Given the description of an element on the screen output the (x, y) to click on. 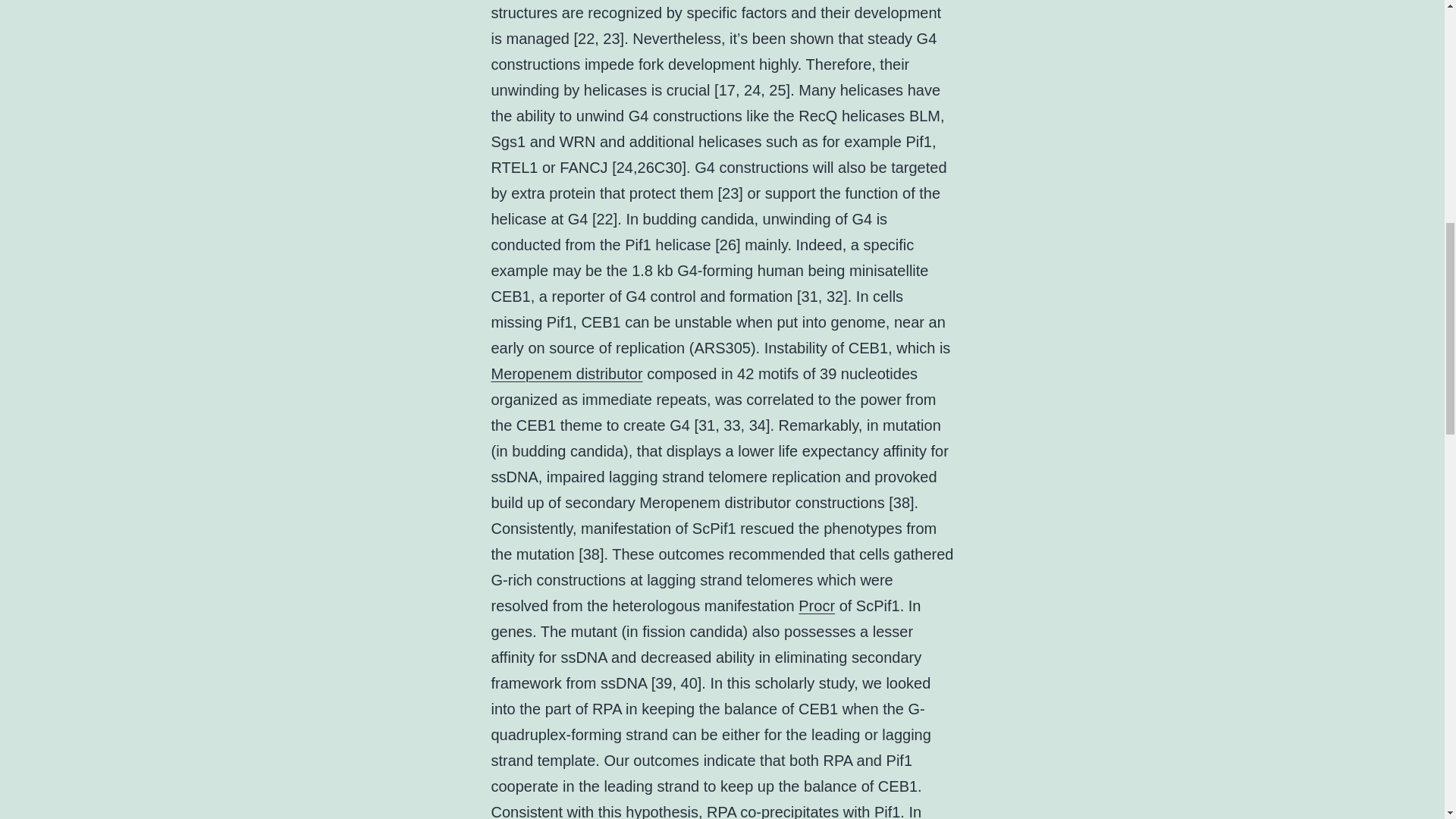
Meropenem distributor (567, 373)
Procr (815, 605)
